Given the description of an element on the screen output the (x, y) to click on. 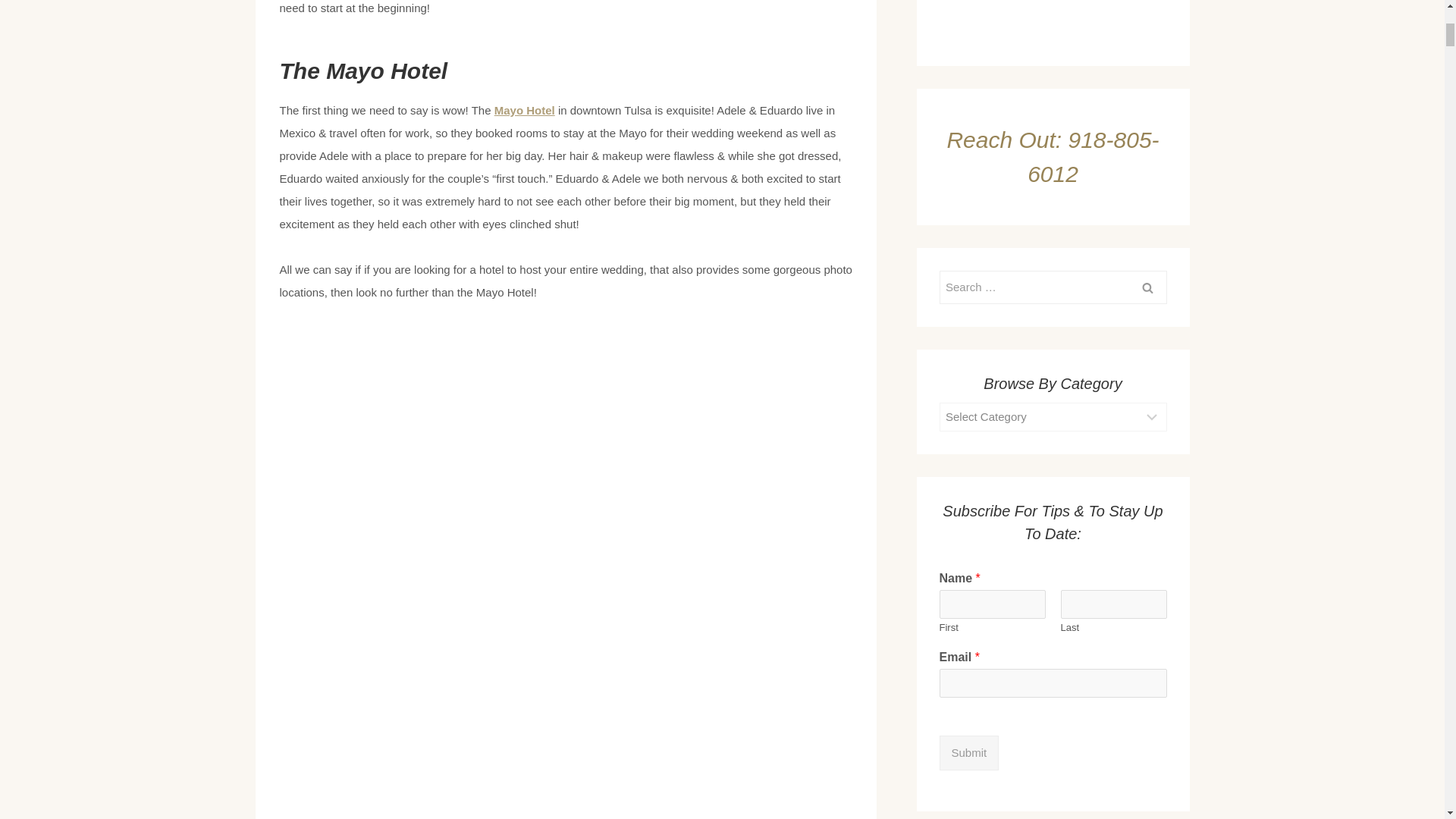
Search (1147, 287)
Search (1147, 287)
Mayo Hotel (524, 110)
The Mayo Hotel (362, 70)
